Given the description of an element on the screen output the (x, y) to click on. 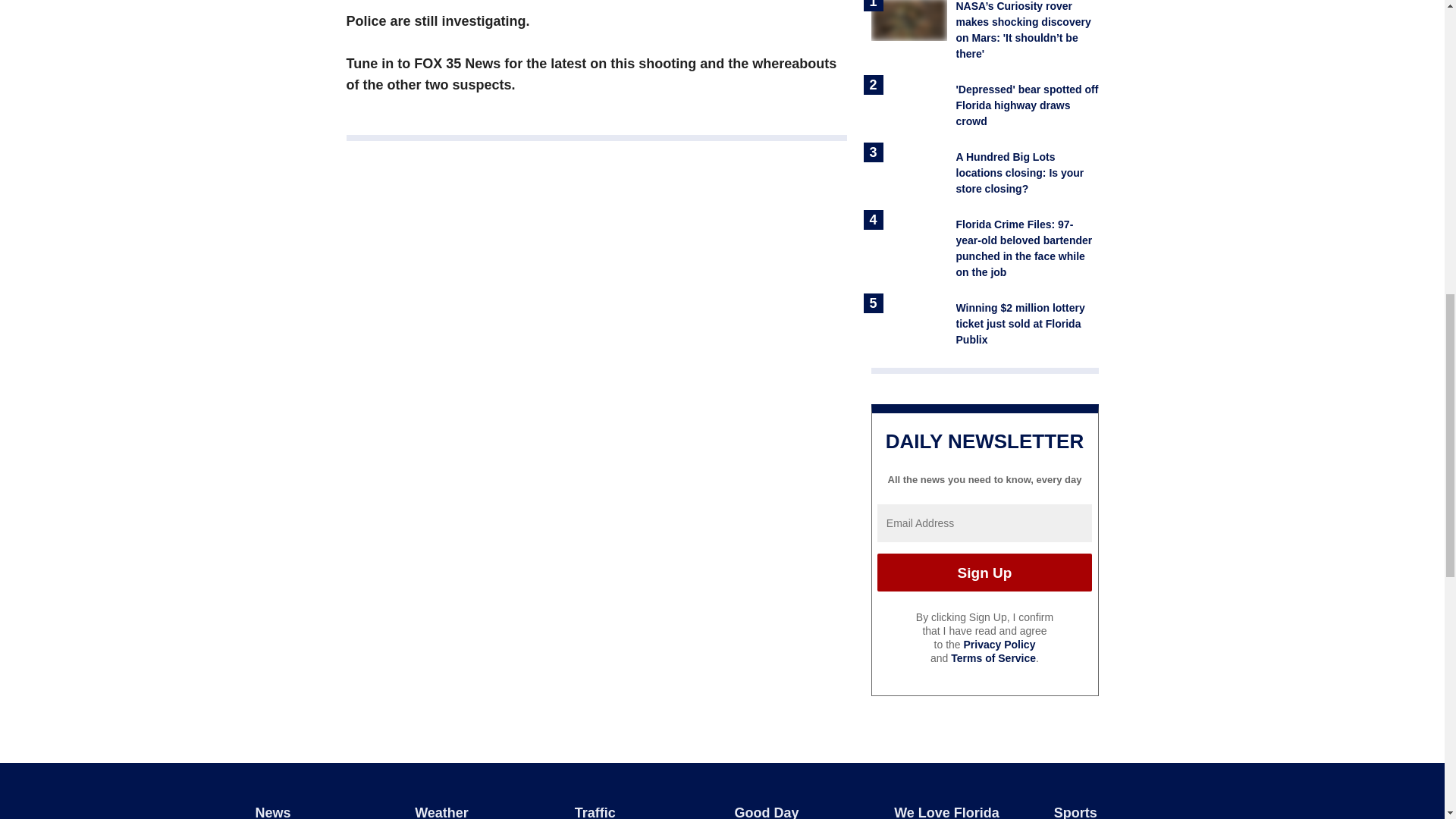
Sign Up (984, 572)
